Given the description of an element on the screen output the (x, y) to click on. 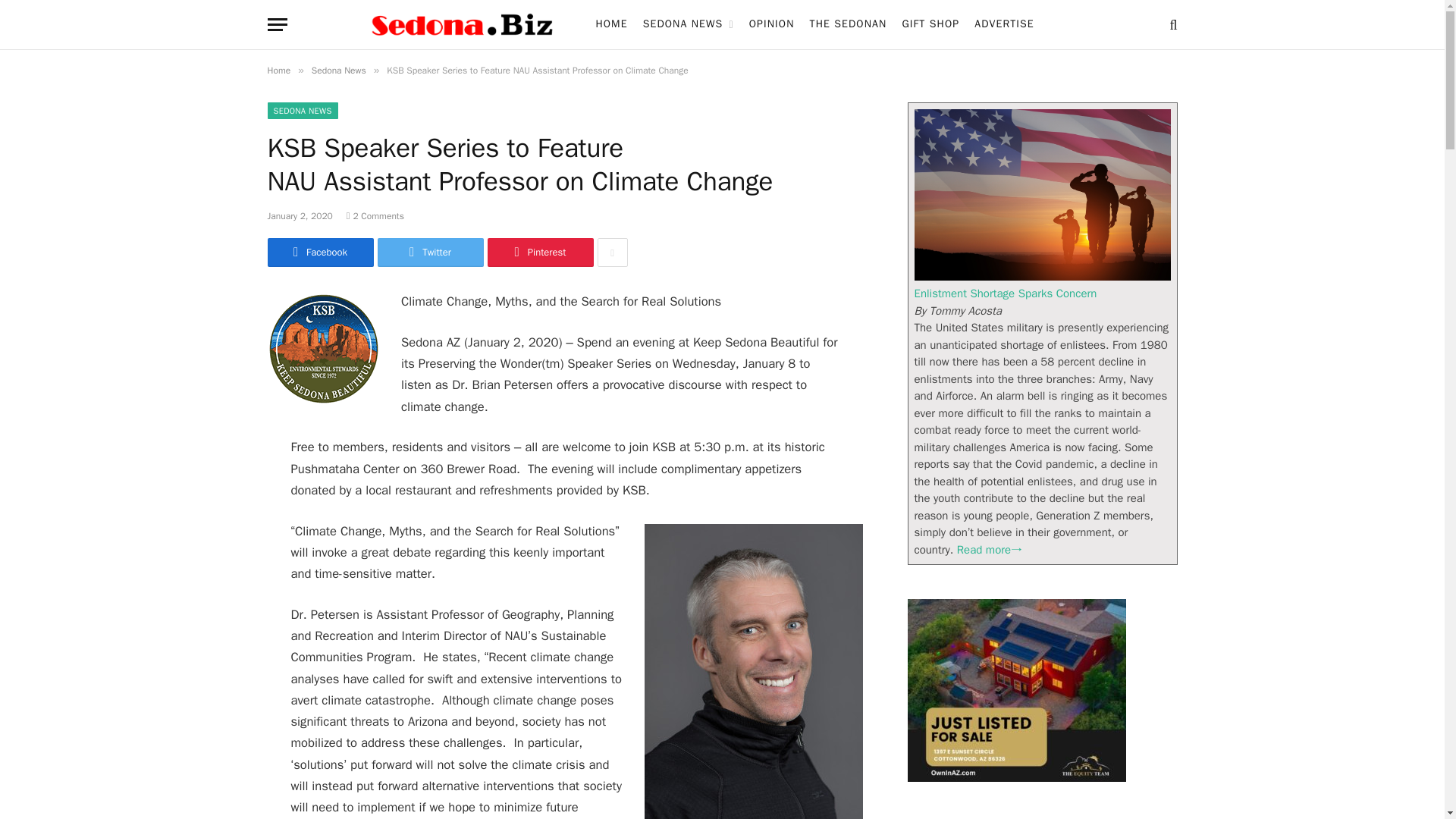
Show More Social Sharing (611, 252)
Sedona News (338, 70)
HOME (611, 24)
Pinterest (539, 252)
Share on Pinterest (539, 252)
ADVERTISE (1004, 24)
Facebook (319, 252)
Home (277, 70)
OPINION (771, 24)
GIFT SHOP (929, 24)
